Given the description of an element on the screen output the (x, y) to click on. 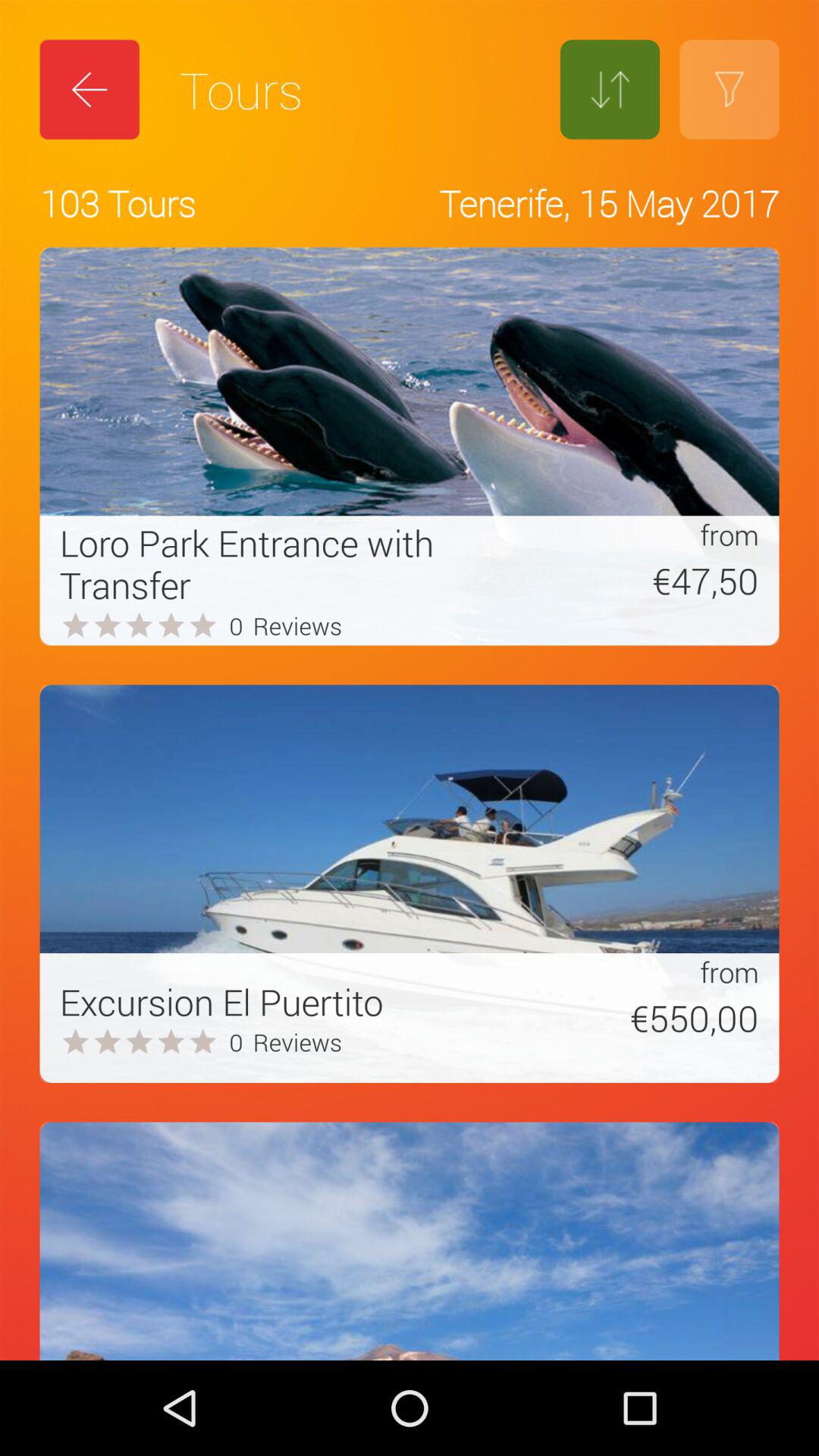
press the item to the right of the excursion el puertito item (632, 1017)
